Given the description of an element on the screen output the (x, y) to click on. 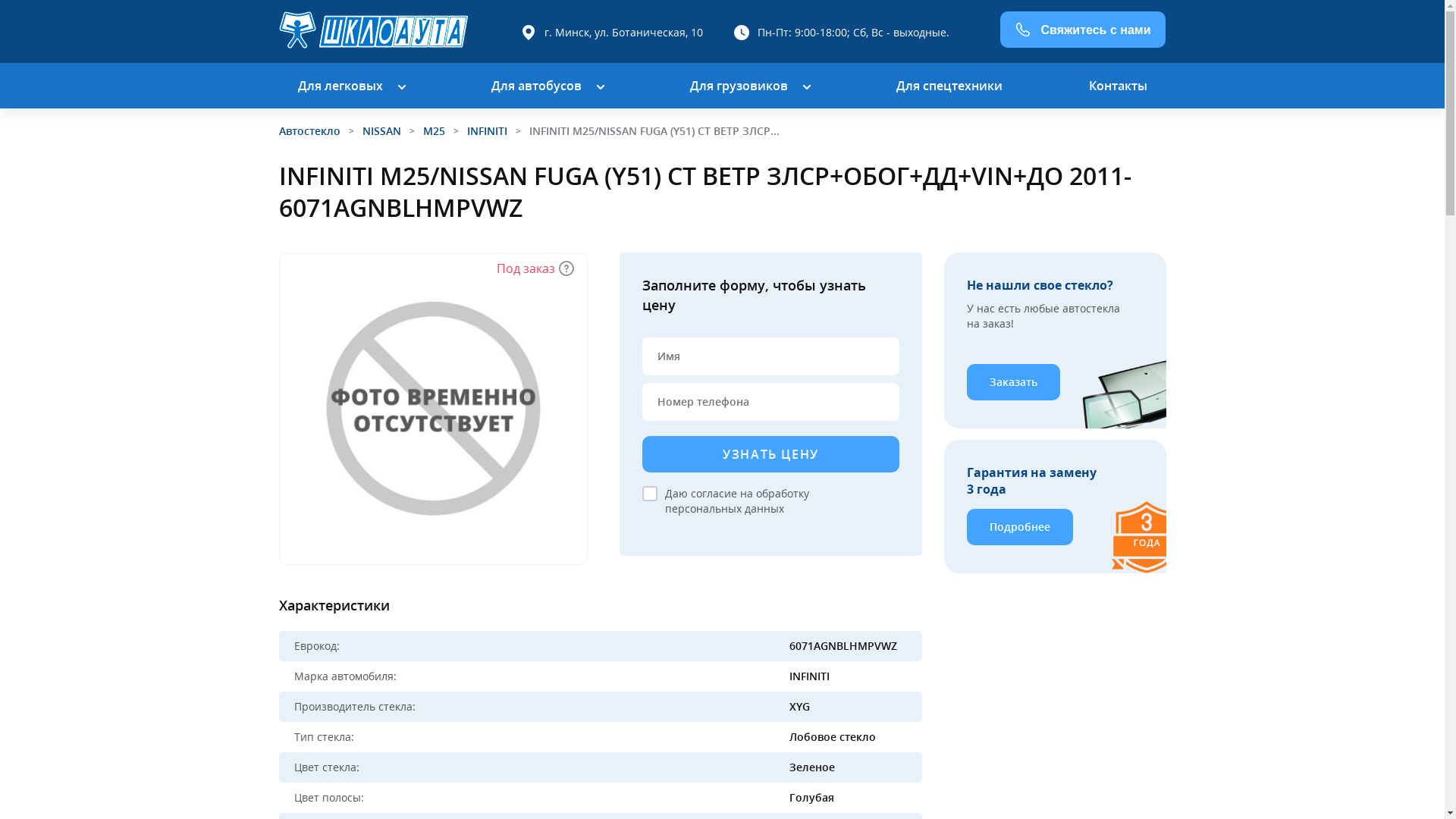
M25 Element type: text (434, 130)
NISSAN Element type: text (381, 130)
INFINITI Element type: text (487, 130)
